Given the description of an element on the screen output the (x, y) to click on. 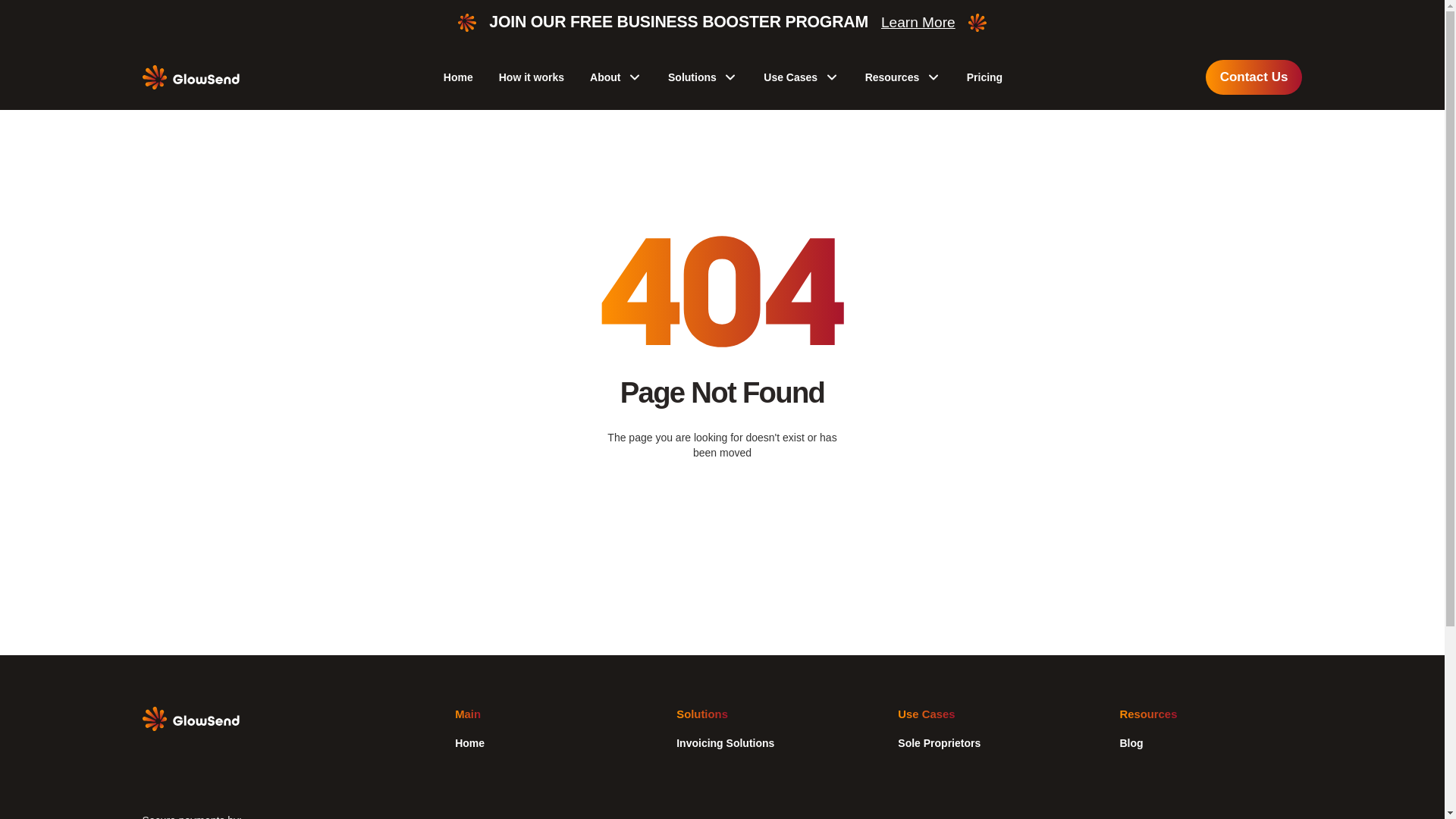
Home (469, 743)
Home (458, 77)
How it works (531, 77)
Contact Us (1254, 77)
Blog (1130, 743)
Invoicing Solutions (725, 743)
Sole Proprietors (938, 743)
Learn More (917, 22)
Pricing (984, 77)
